Given the description of an element on the screen output the (x, y) to click on. 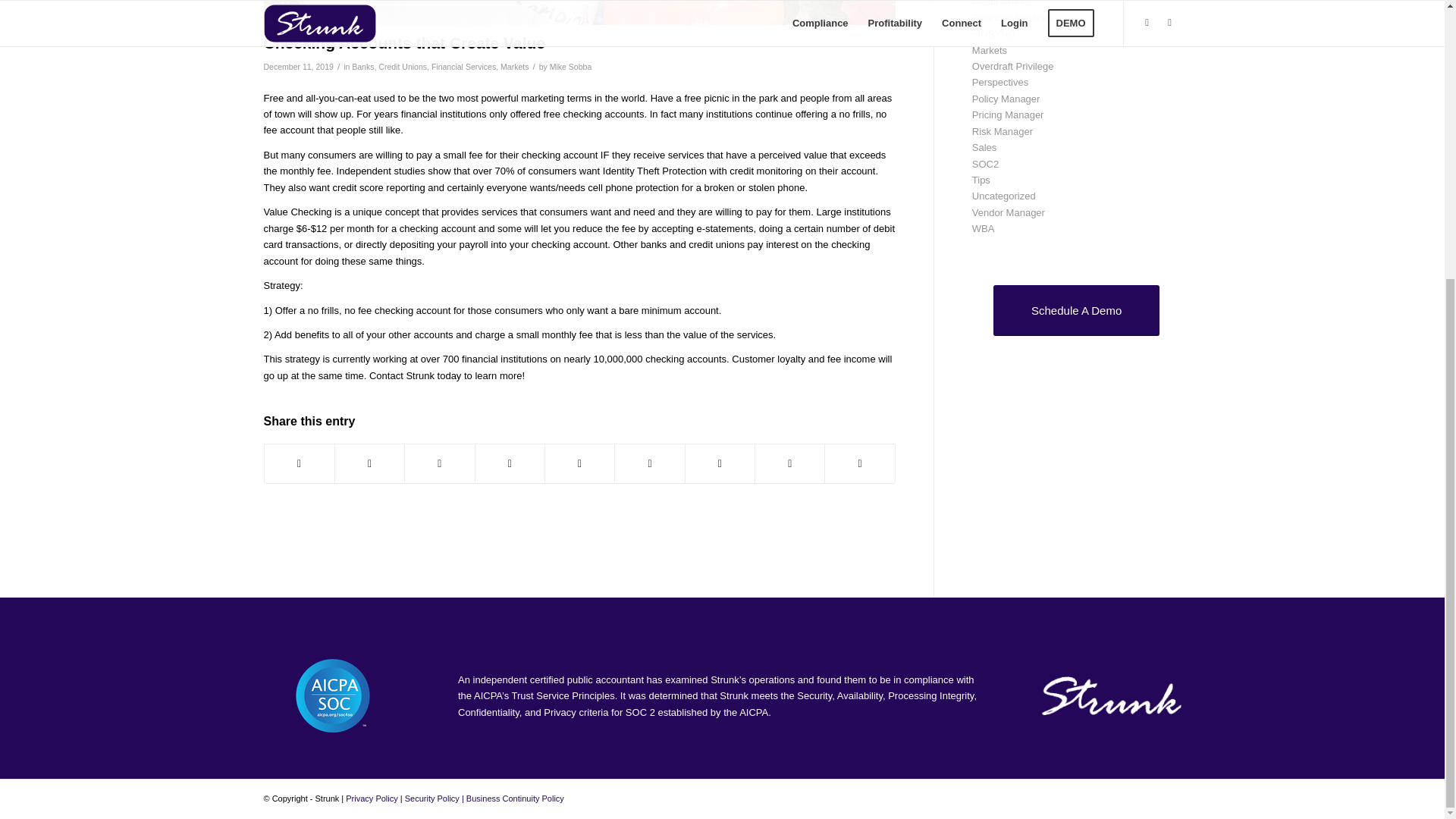
Credit Unions (402, 66)
Banks (363, 66)
Mike Sobba (571, 66)
Posts by Mike Sobba (571, 66)
Financial Services (463, 66)
picnic (579, 12)
Markets (514, 66)
